Given the description of an element on the screen output the (x, y) to click on. 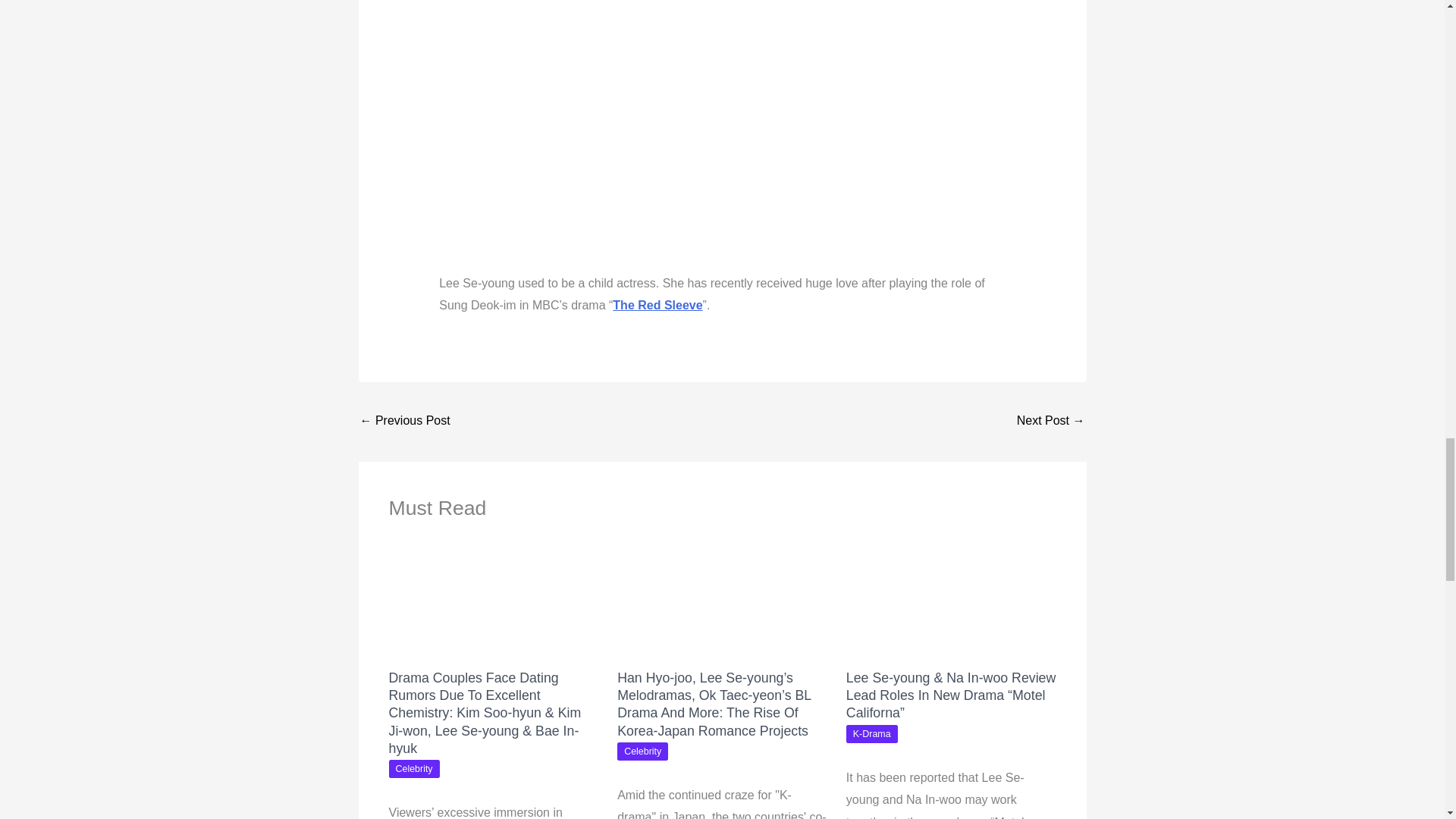
Celebrity (413, 769)
aespa Ningning makes fans excited with her new cute tattoos (1050, 421)
The Red Sleeve (656, 305)
Celebrity (642, 751)
